Given the description of an element on the screen output the (x, y) to click on. 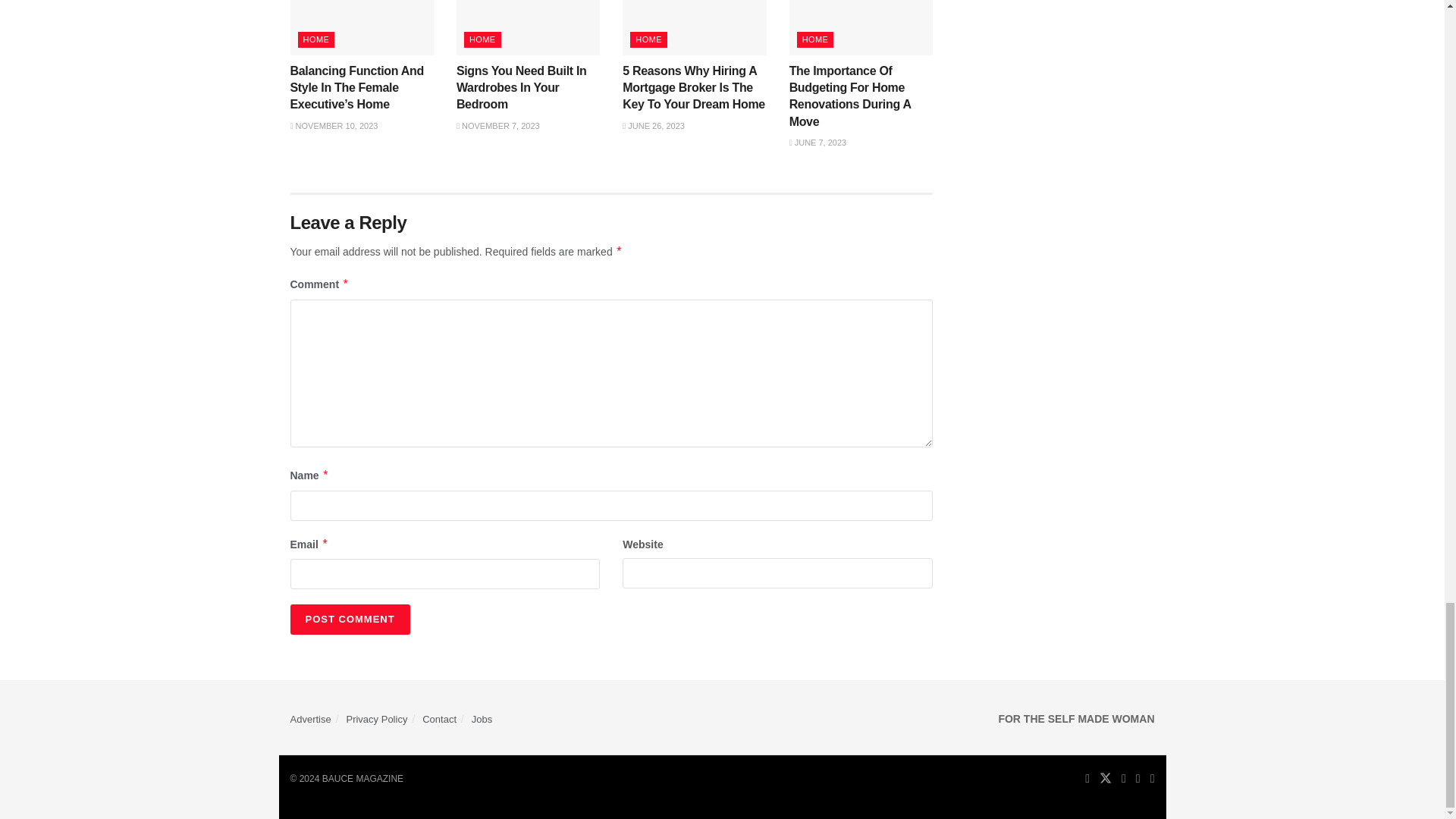
Post Comment (349, 619)
